Given the description of an element on the screen output the (x, y) to click on. 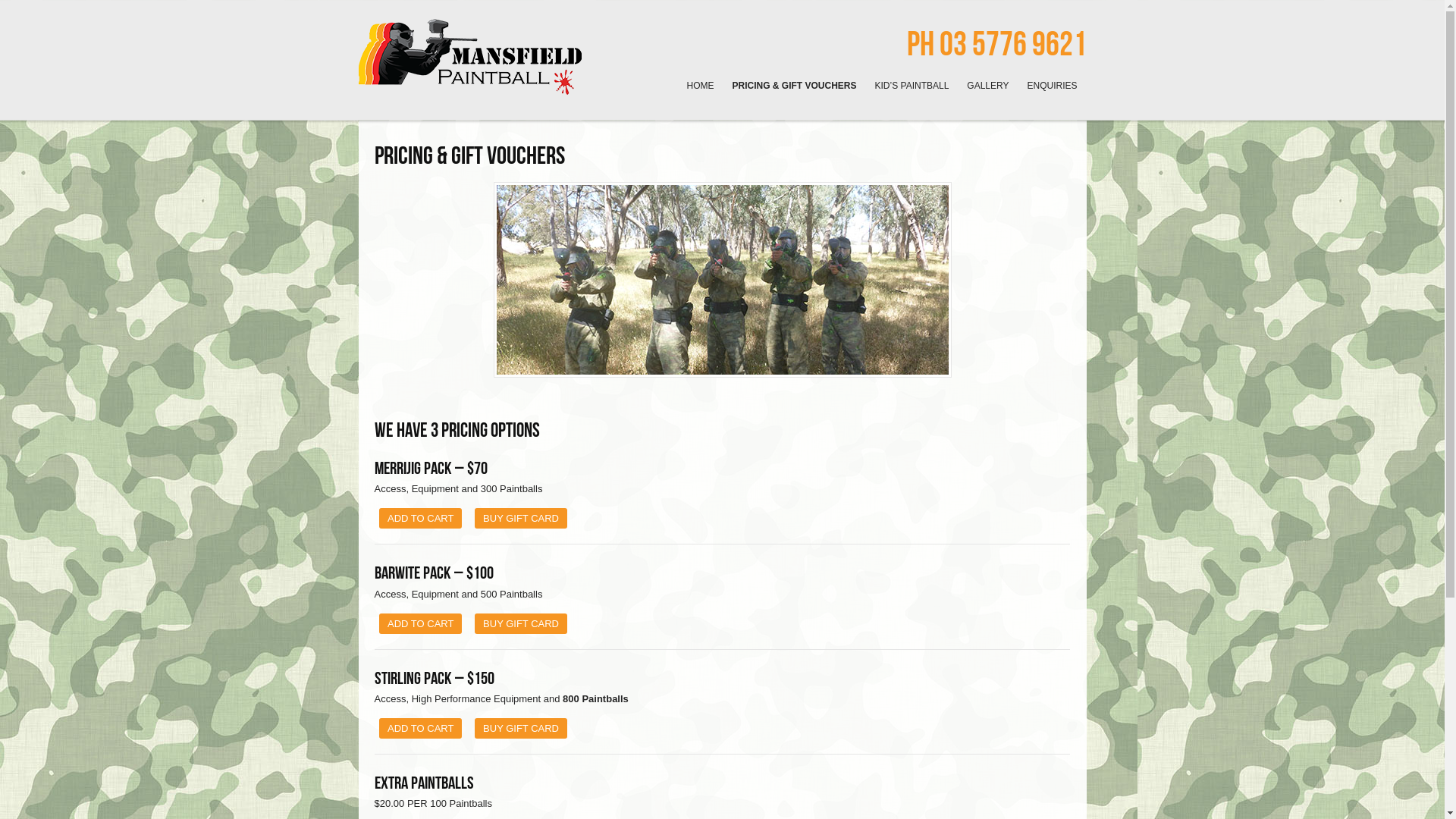
03 5776 9621 Element type: text (1011, 43)
HOME Element type: text (700, 85)
BUY GIFT CARD Element type: text (520, 623)
ADD TO CART Element type: text (420, 518)
ADD TO CART Element type: text (420, 623)
BUY GIFT CARD Element type: text (520, 728)
Fun and affordable Paintball games in the high country! Element type: hover (469, 87)
ADD TO CART Element type: text (420, 728)
PRICING & GIFT VOUCHERS Element type: text (794, 85)
ENQUIRIES Element type: text (1051, 85)
BUY GIFT CARD Element type: text (520, 518)
GALLERY Element type: text (987, 85)
